Given the description of an element on the screen output the (x, y) to click on. 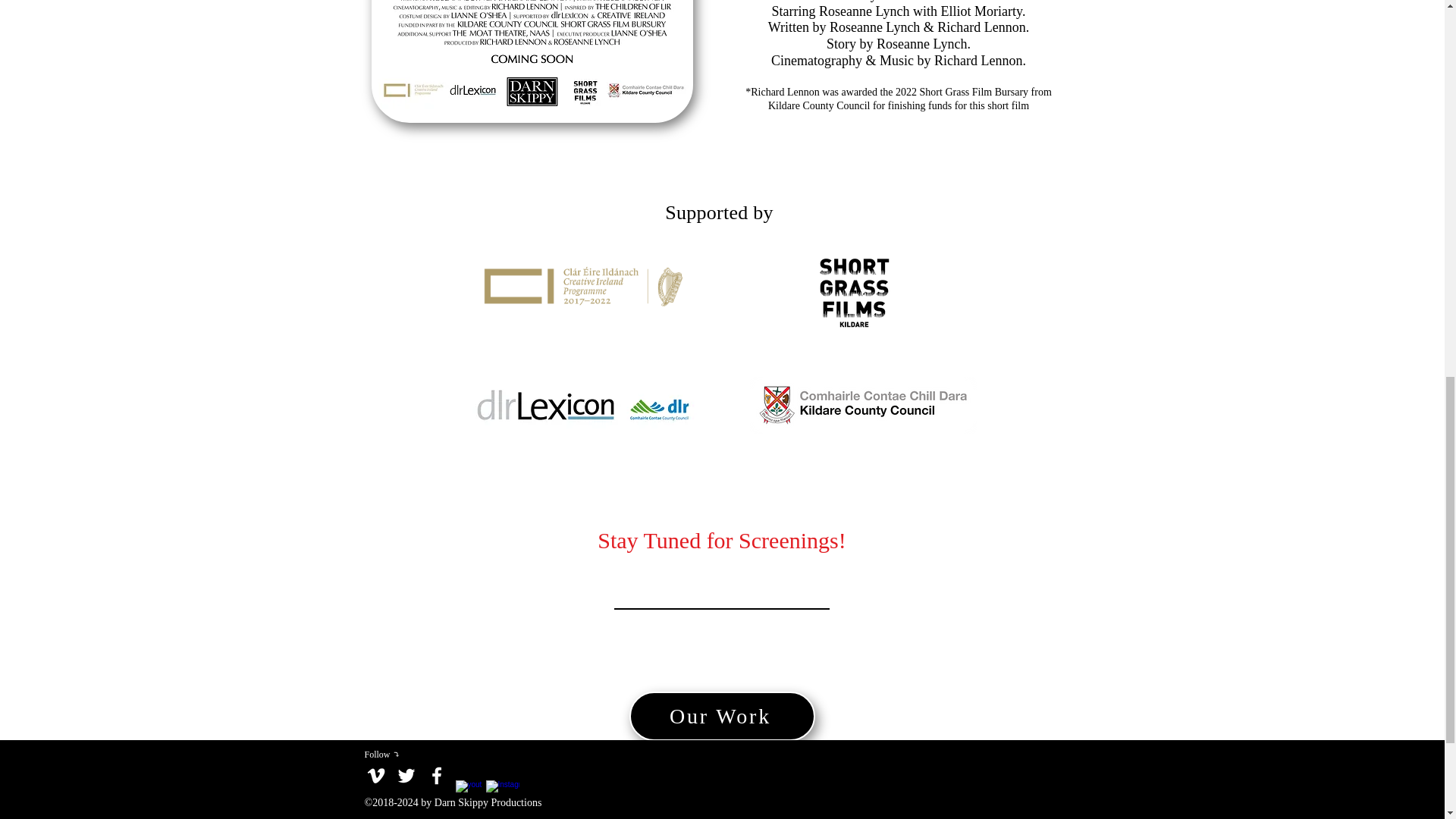
Our Work (721, 716)
